Given the description of an element on the screen output the (x, y) to click on. 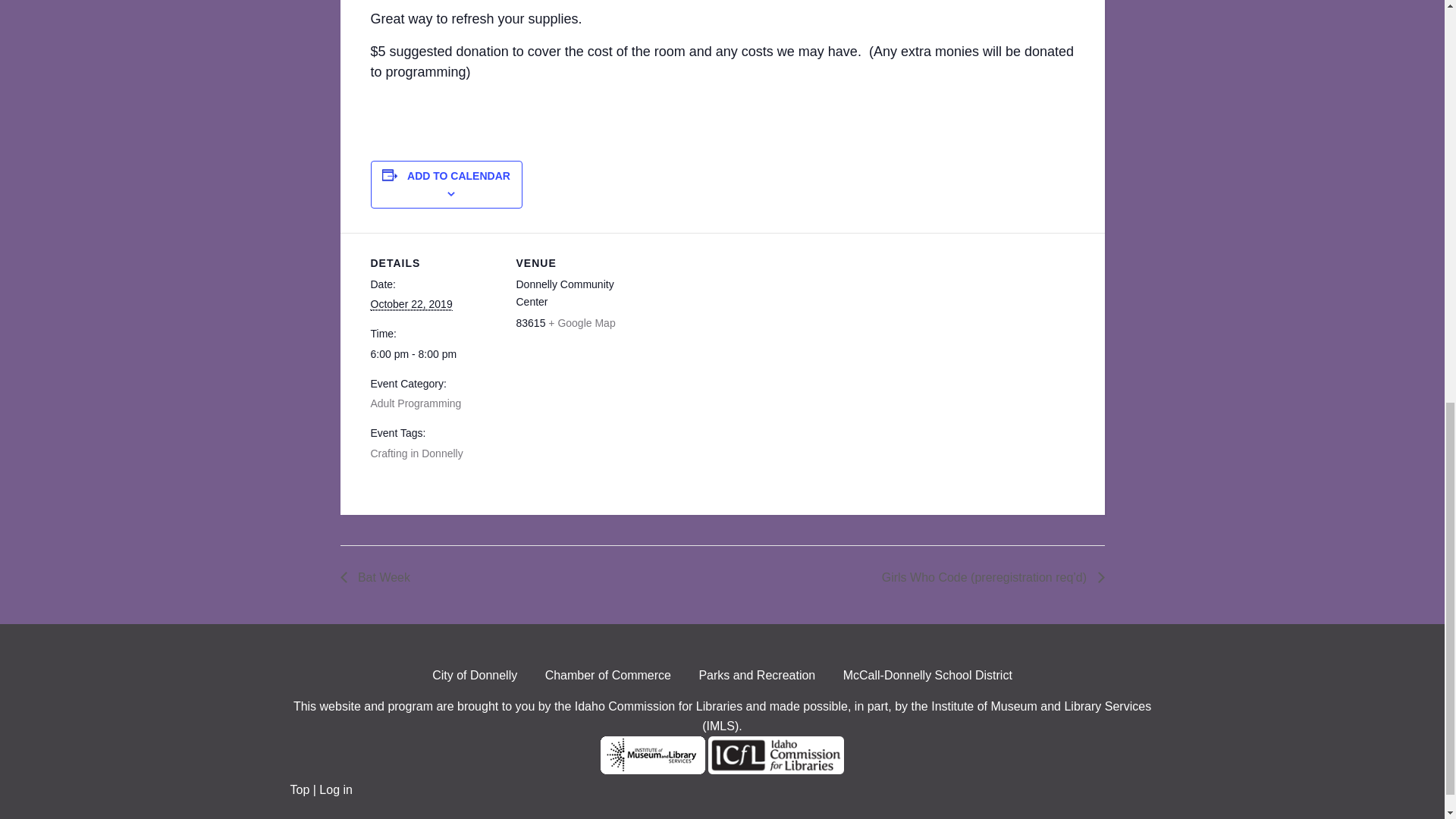
Idaho Commission for Libraries (775, 769)
Bat Week (379, 576)
Click to view a Google Map (581, 322)
Adult Programming (415, 403)
Institute of Museum and Library Services (651, 769)
ADD TO CALENDAR (459, 175)
City of Donnelly (474, 679)
2019-10-22 (410, 304)
2019-10-22 (433, 354)
Idaho Commission for Libraries (658, 706)
Crafting in Donnelly (416, 453)
